Given the description of an element on the screen output the (x, y) to click on. 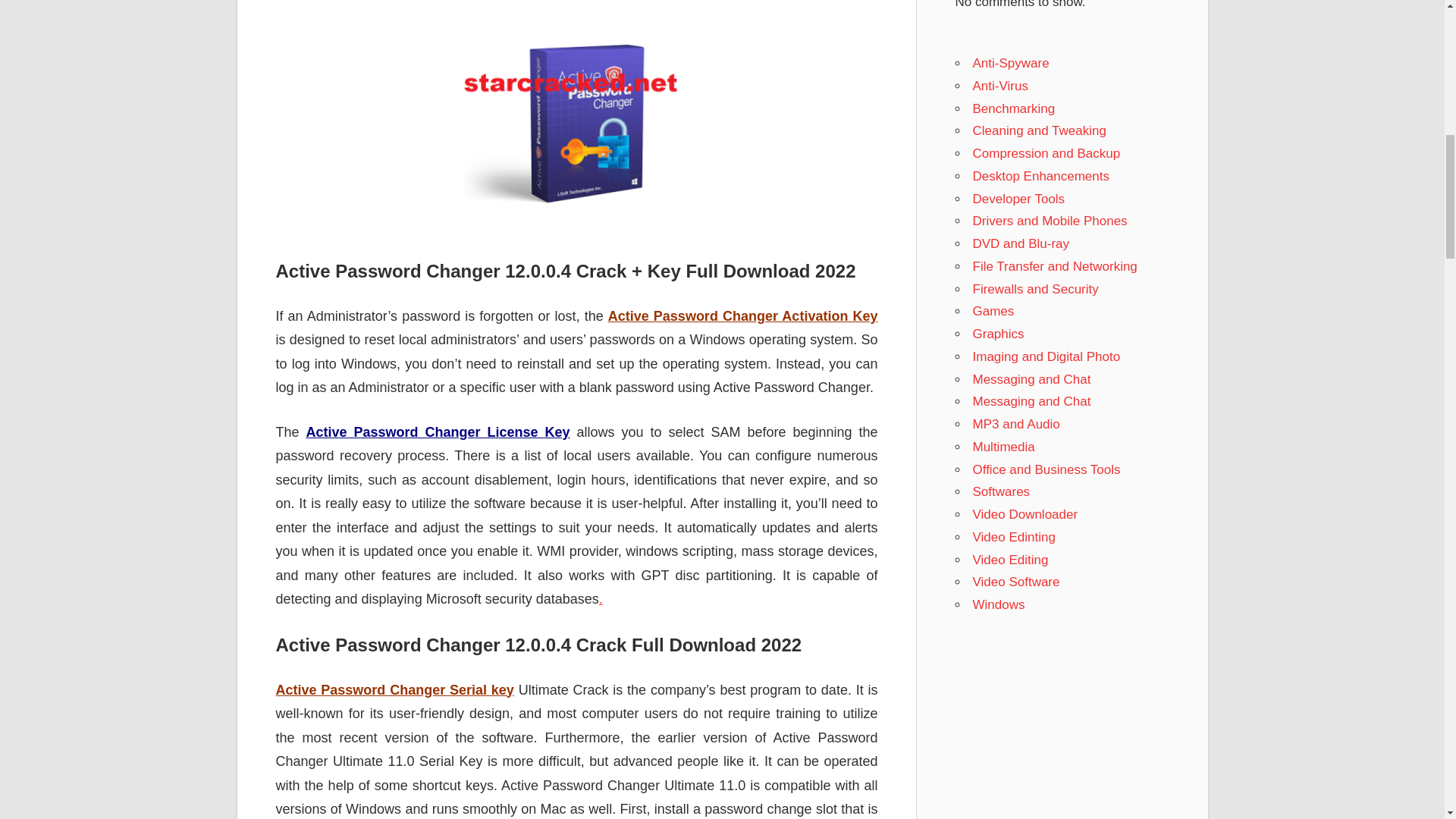
Active Password Changer License Key (437, 432)
Active Password Changer Serial key (394, 689)
Active Password Changer Activation Key (742, 315)
